Given the description of an element on the screen output the (x, y) to click on. 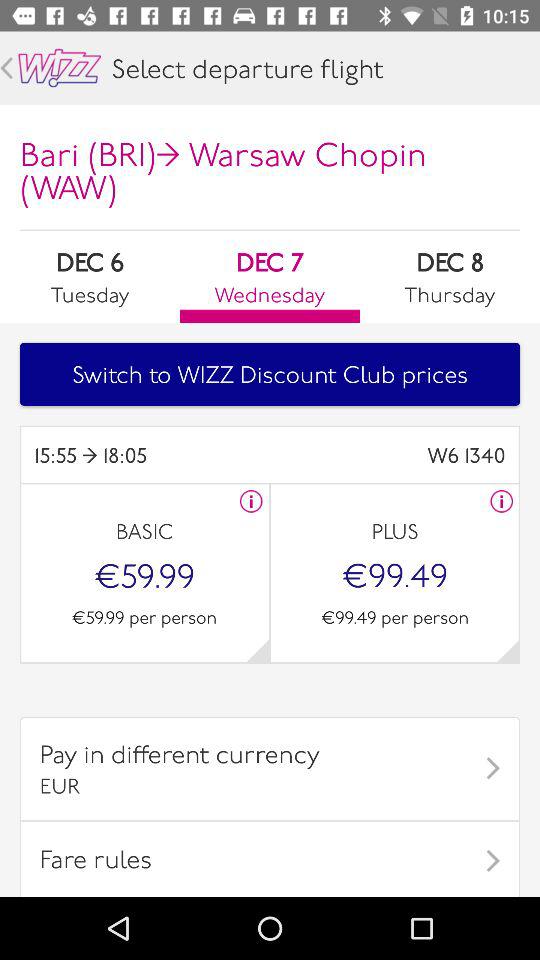
return (6, 67)
